Given the description of an element on the screen output the (x, y) to click on. 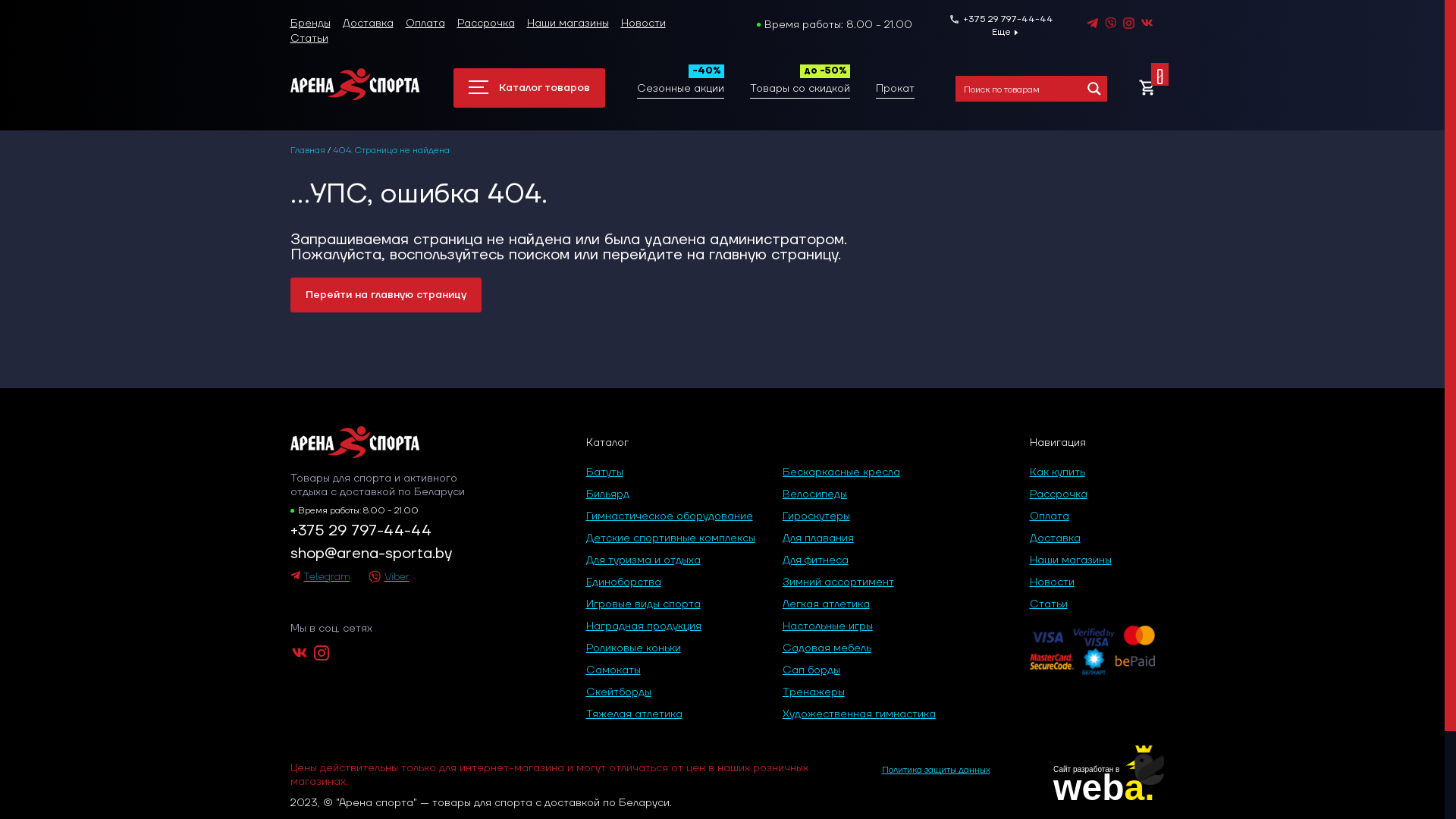
weba. Element type: text (1103, 787)
Viber Element type: text (388, 577)
+375 29 797-44-44 Element type: text (389, 530)
+375 29 797-44-44 Element type: text (1000, 19)
shop@arena-sporta.by Element type: text (389, 553)
Telegram Element type: text (319, 577)
0 Element type: text (1146, 88)
